Given the description of an element on the screen output the (x, y) to click on. 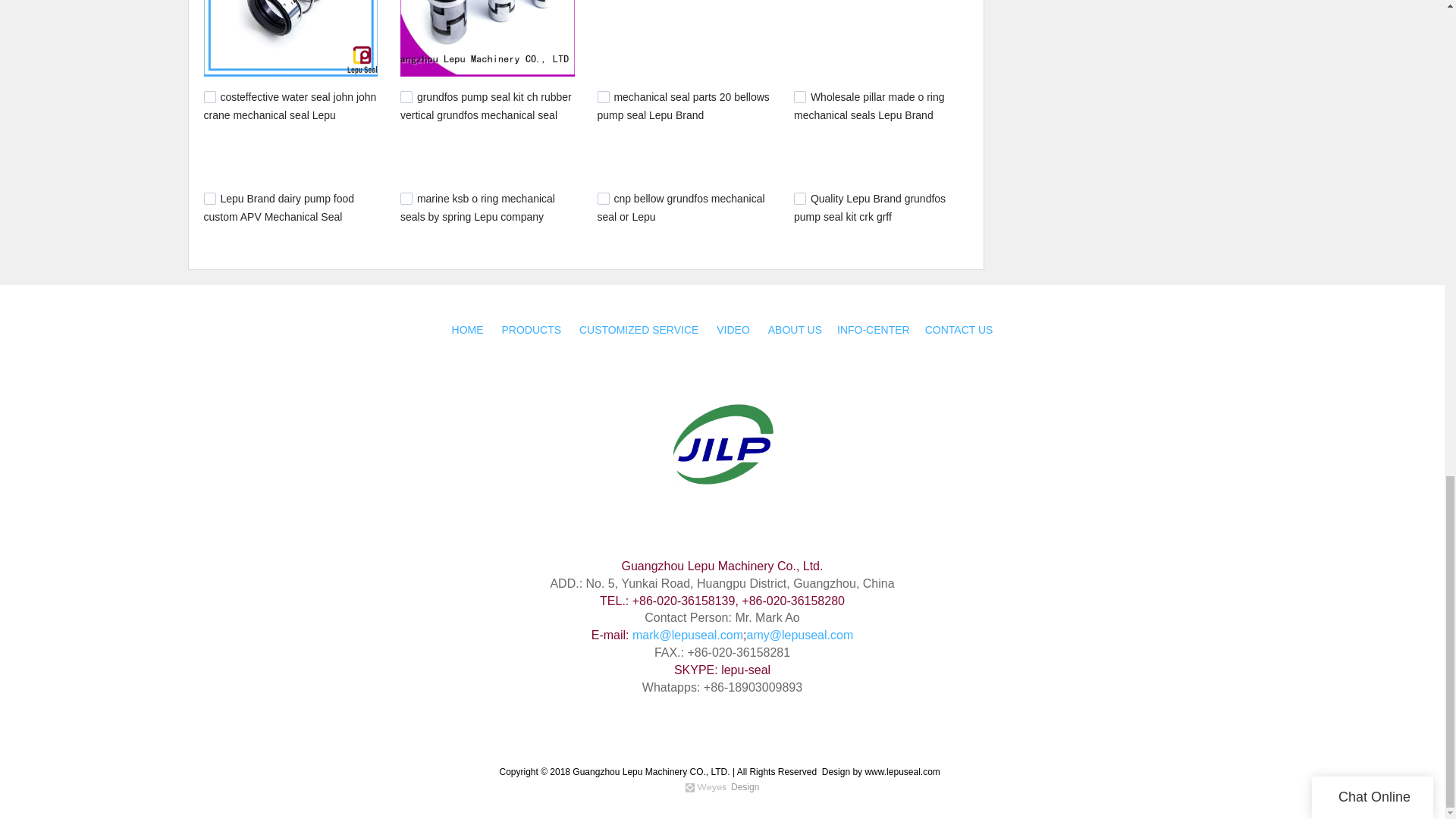
742 (406, 96)
766 (209, 96)
514 (799, 198)
Wholesale pillar made o ring mechanical seals Lepu Brand (868, 105)
656 (209, 198)
Lepu Brand dairy pump food custom APV Mechanical Seal (278, 207)
738 (603, 96)
586 (603, 198)
709 (799, 96)
marine ksb o ring mechanical seals by spring Lepu company (477, 207)
